Given the description of an element on the screen output the (x, y) to click on. 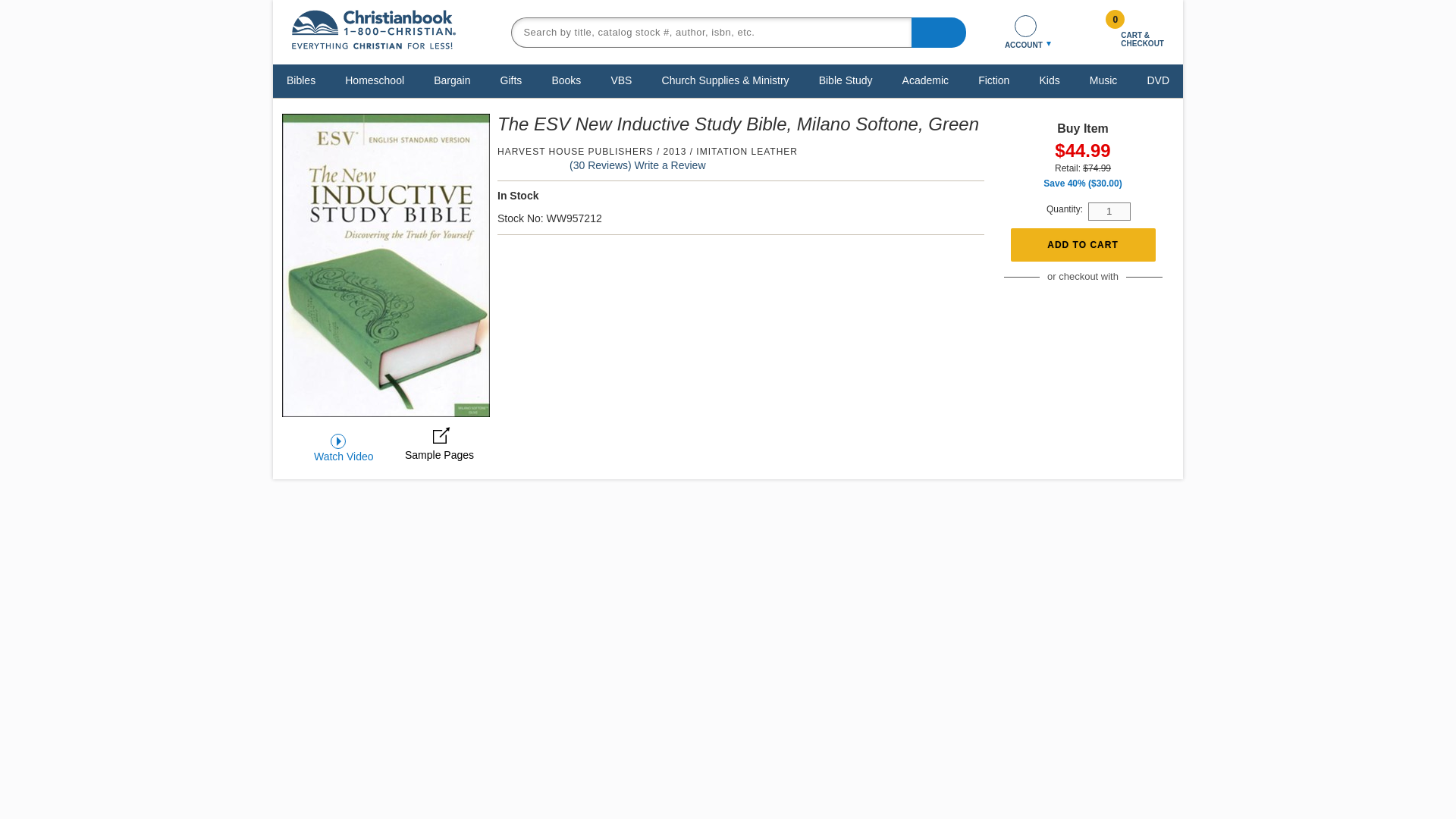
DVD (1157, 79)
Write a Review (670, 164)
Bible Study (845, 79)
Kids (1048, 79)
Bargain (452, 79)
Place in Bookbag (1082, 245)
Homeschool (374, 79)
Bibles (300, 79)
1 (1109, 211)
VBS (621, 79)
Academic (924, 79)
ACCOUNT (1025, 32)
Books (566, 79)
SEARCH (938, 31)
Gifts (511, 79)
